Given the description of an element on the screen output the (x, y) to click on. 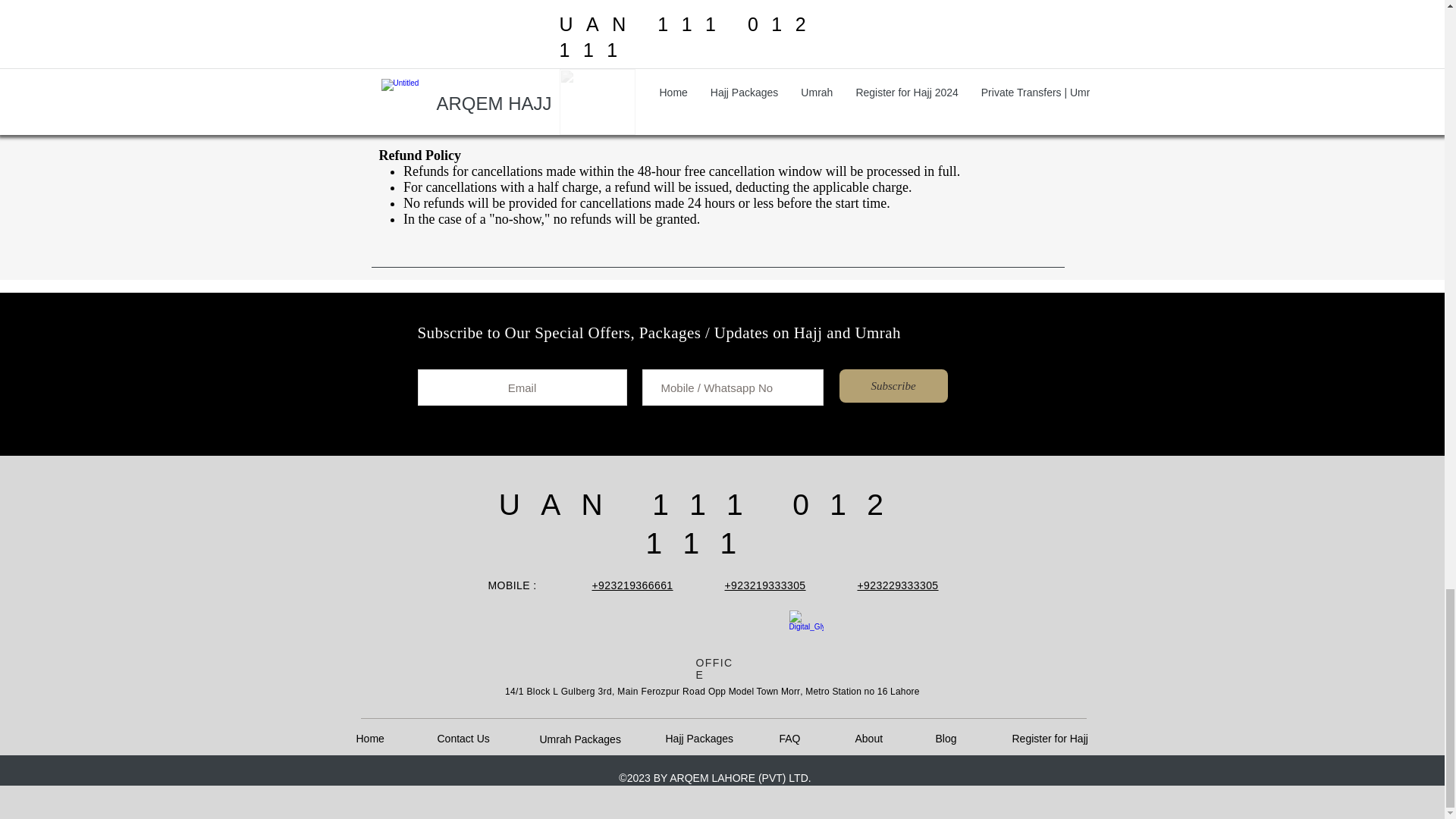
UAN 111 012 111 (701, 523)
MOBILE : (512, 585)
Subscribe (892, 385)
